Given the description of an element on the screen output the (x, y) to click on. 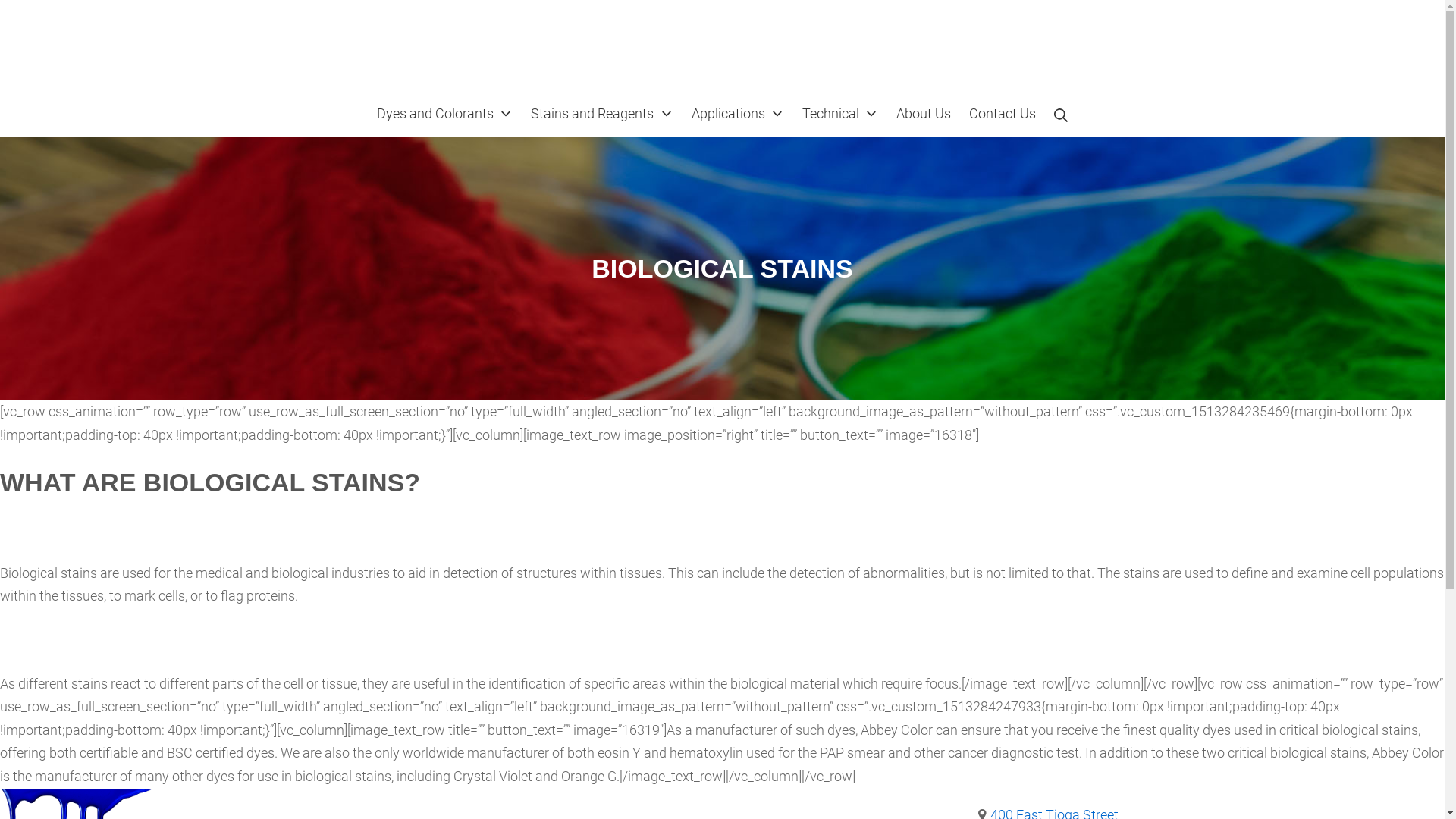
Applications Element type: text (737, 113)
Dyes and Colorants Element type: text (444, 113)
Technical Element type: text (840, 113)
Stains and Reagents Element type: text (601, 113)
About Us Element type: text (923, 113)
Contact Us Element type: text (1002, 113)
Search Element type: text (38, 17)
Search Element type: text (1060, 113)
